Given the description of an element on the screen output the (x, y) to click on. 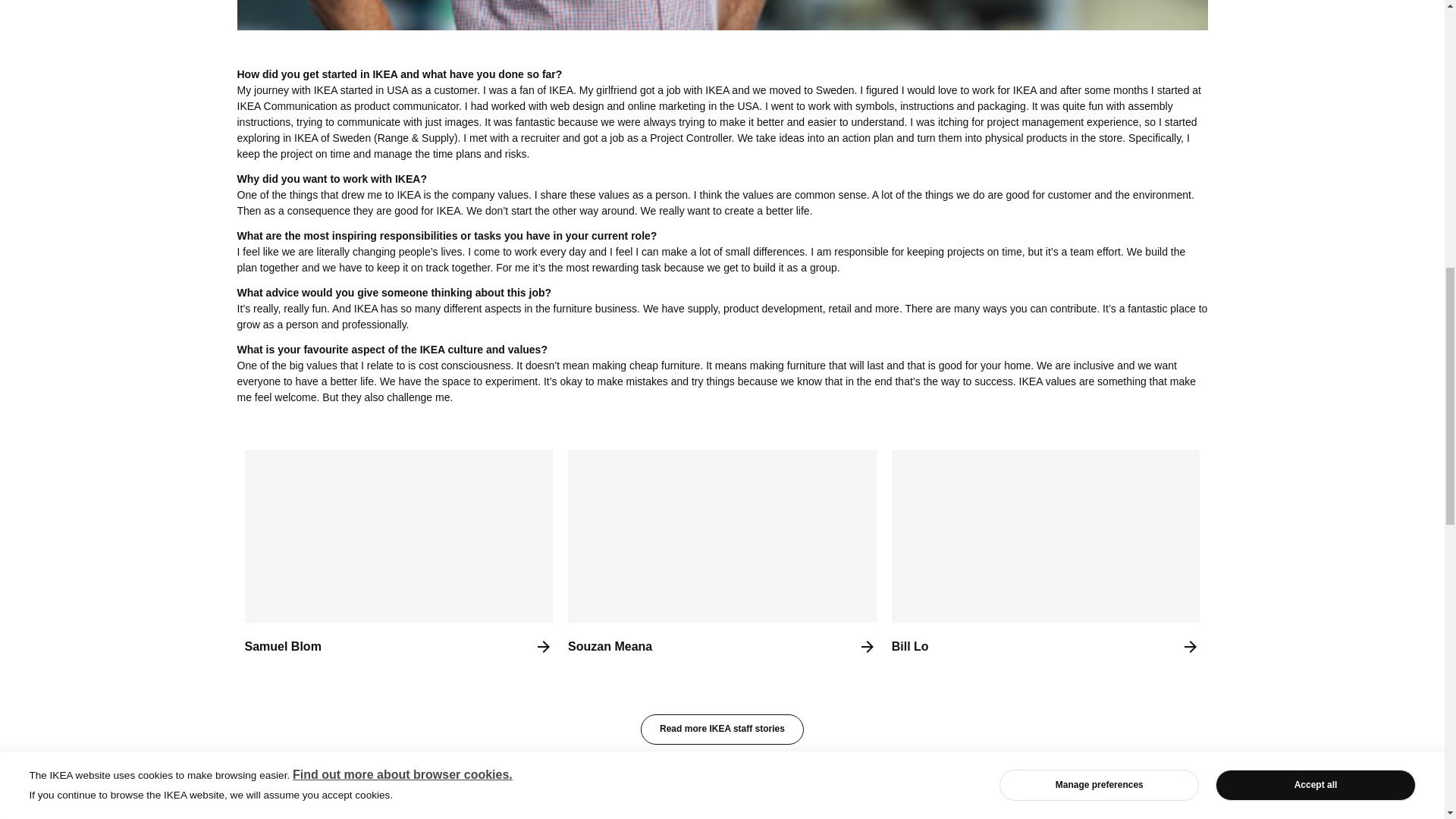
Read more IKEA staff stories (721, 729)
Souzan Meana (721, 559)
See our available jobs (722, 796)
Samuel Blom (398, 559)
Bill Lo (1045, 559)
